Given the description of an element on the screen output the (x, y) to click on. 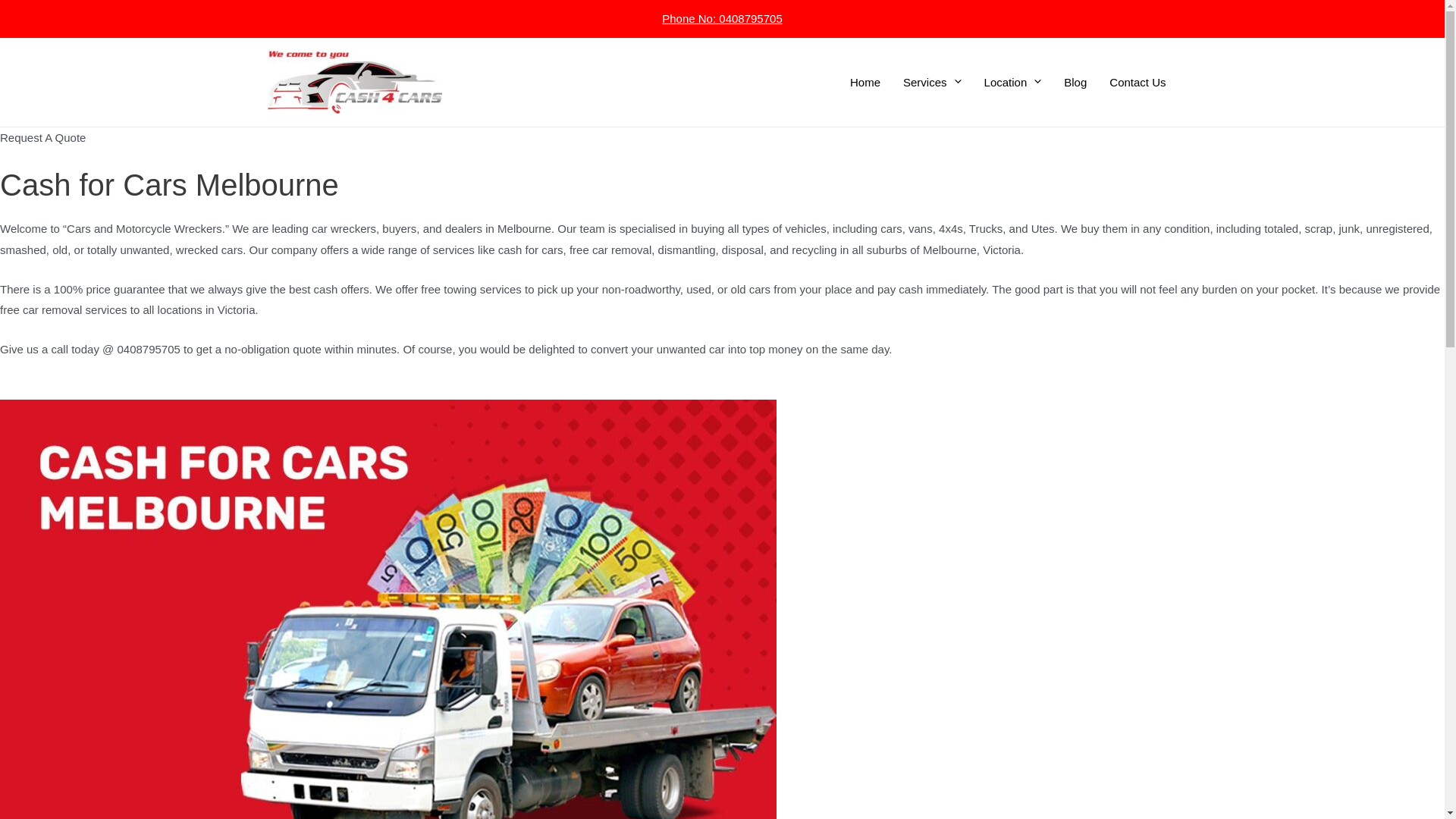
Blog Element type: text (1075, 82)
Phone No: 0408795705 Element type: text (721, 18)
Home Element type: text (864, 82)
Location Element type: text (1012, 82)
Services Element type: text (931, 82)
Contact Us Element type: text (1137, 82)
